Given the description of an element on the screen output the (x, y) to click on. 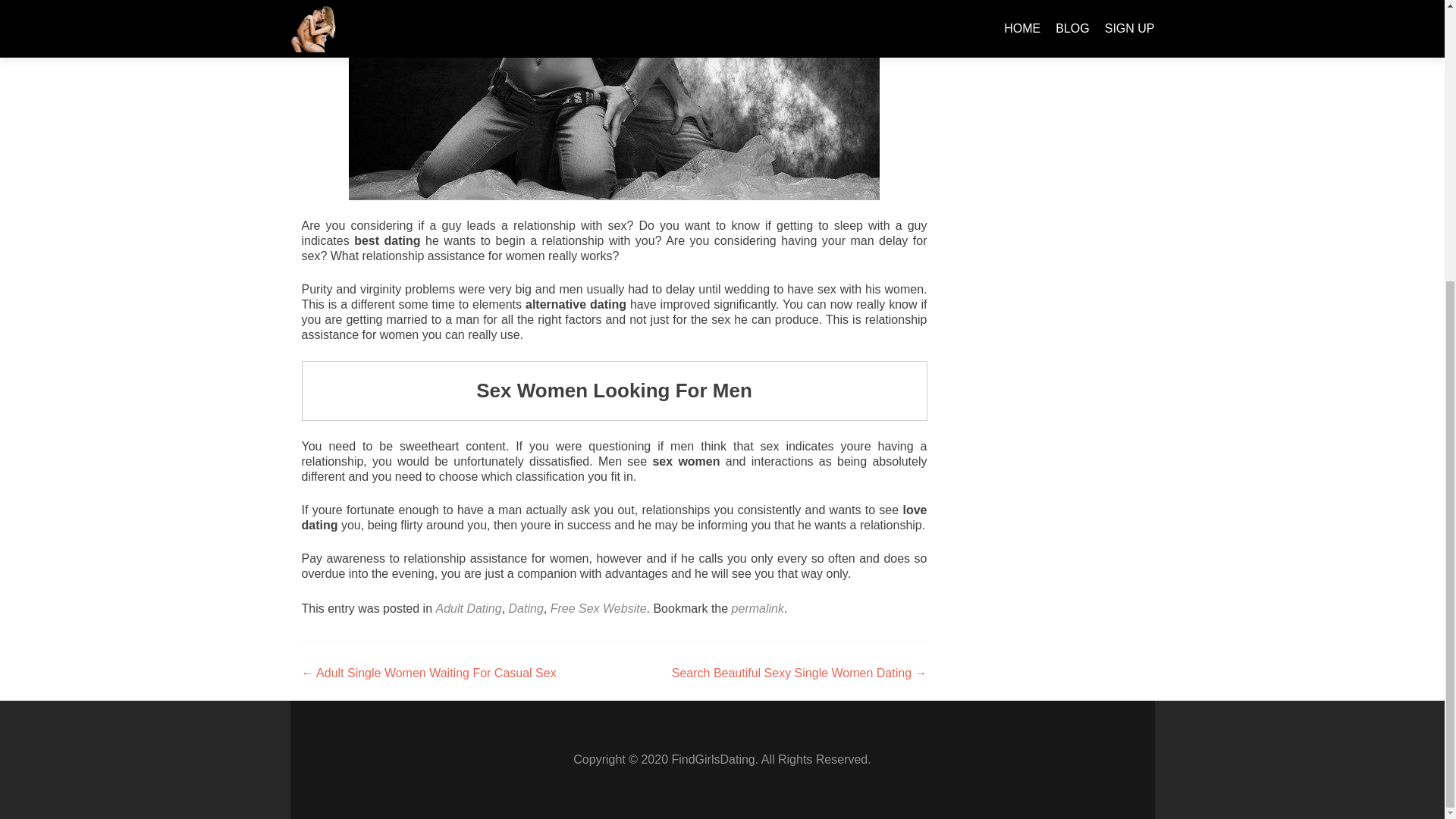
Free Sex Website (598, 608)
Adult Dating (467, 608)
Sex Women Looking For Men 3 (614, 99)
permalink (758, 608)
Dating (525, 608)
